Given the description of an element on the screen output the (x, y) to click on. 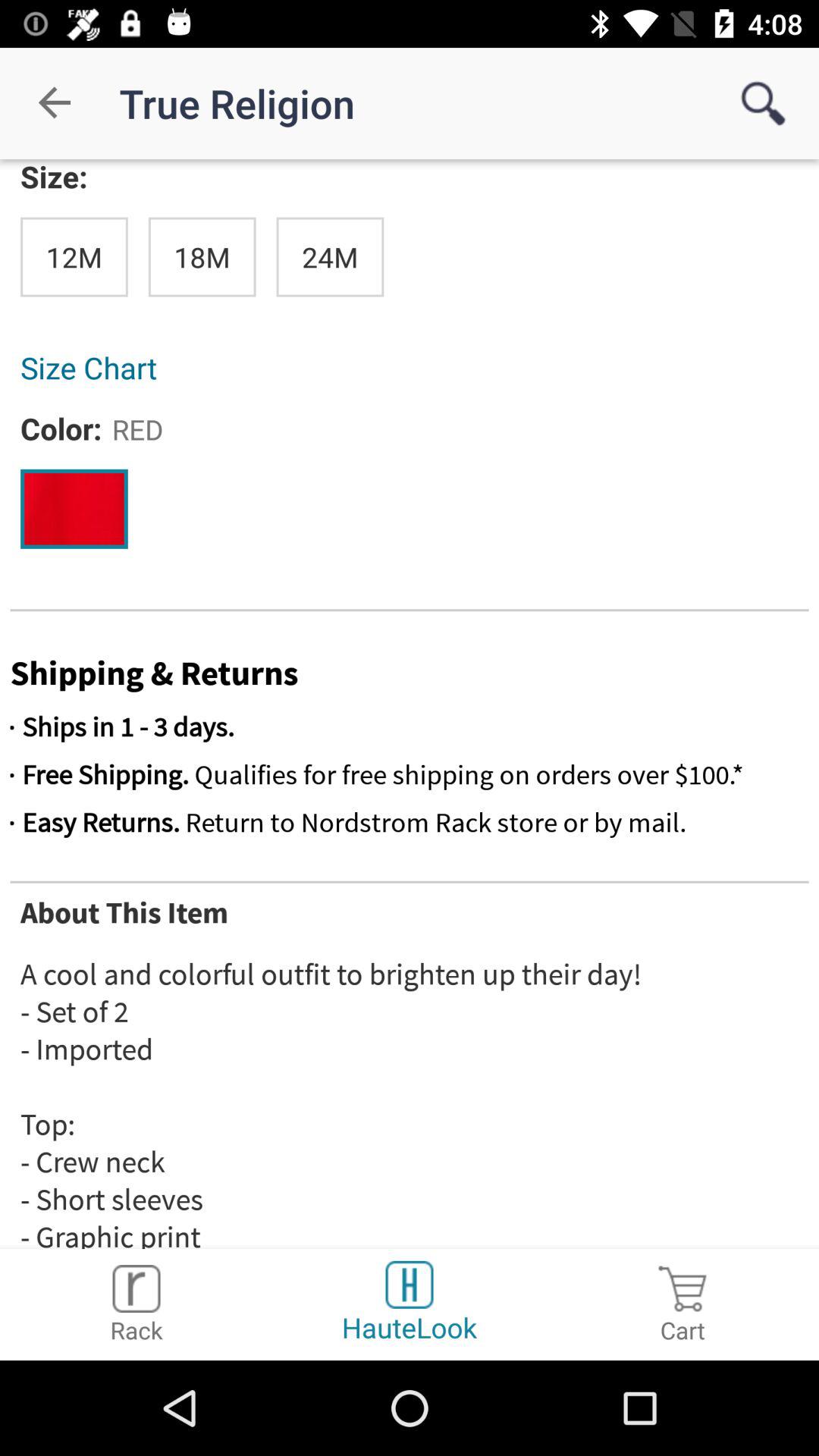
swipe to the 12m icon (73, 256)
